Given the description of an element on the screen output the (x, y) to click on. 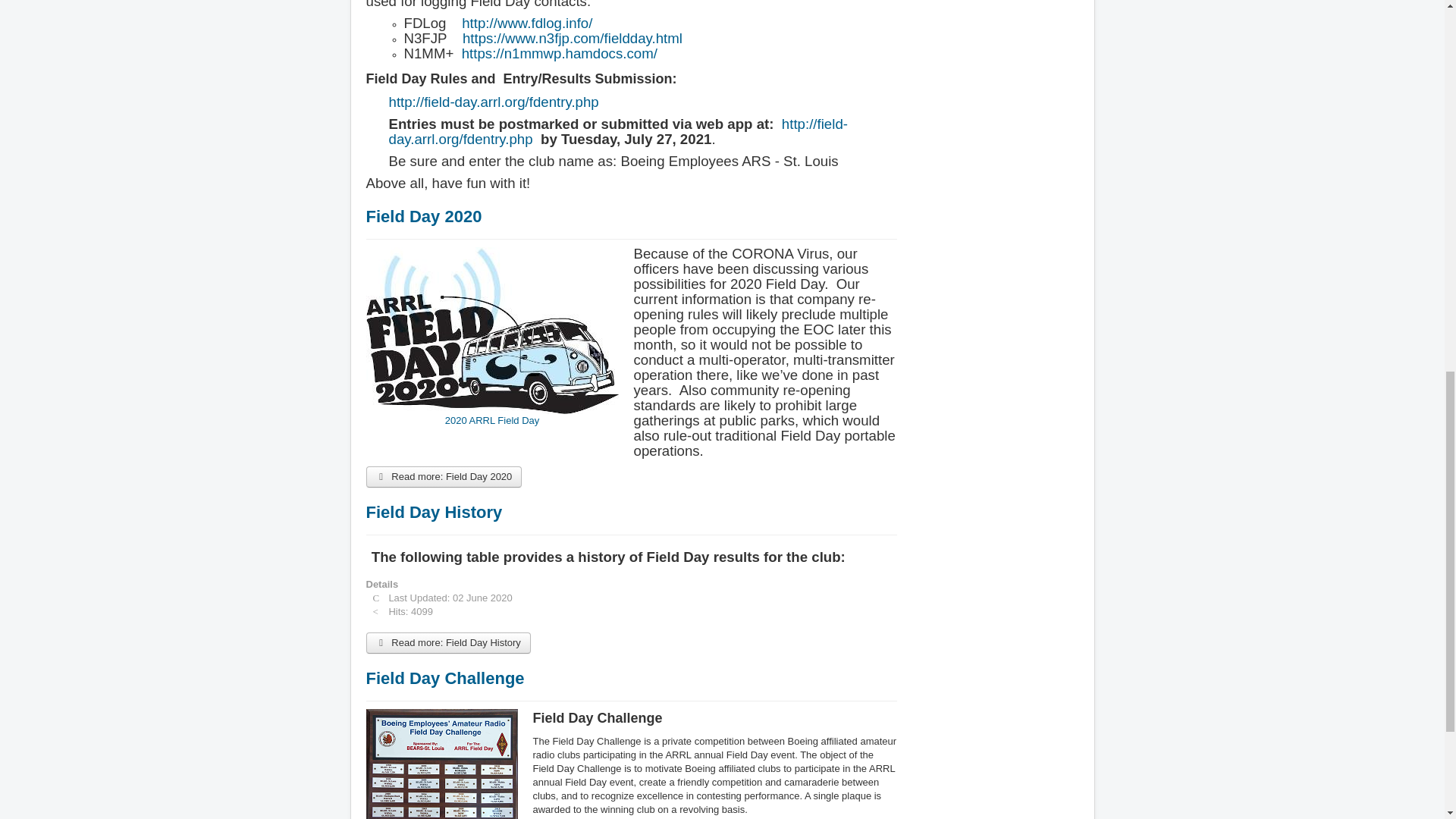
Read more: Field Day History (447, 642)
Field Day Challenge (444, 678)
Read more: Field Day 2020 (443, 476)
Field Day 2020 (423, 216)
Field Day History (433, 511)
2020 ARRL Field Day (491, 337)
2020 ARRL Field Day (491, 330)
